Given the description of an element on the screen output the (x, y) to click on. 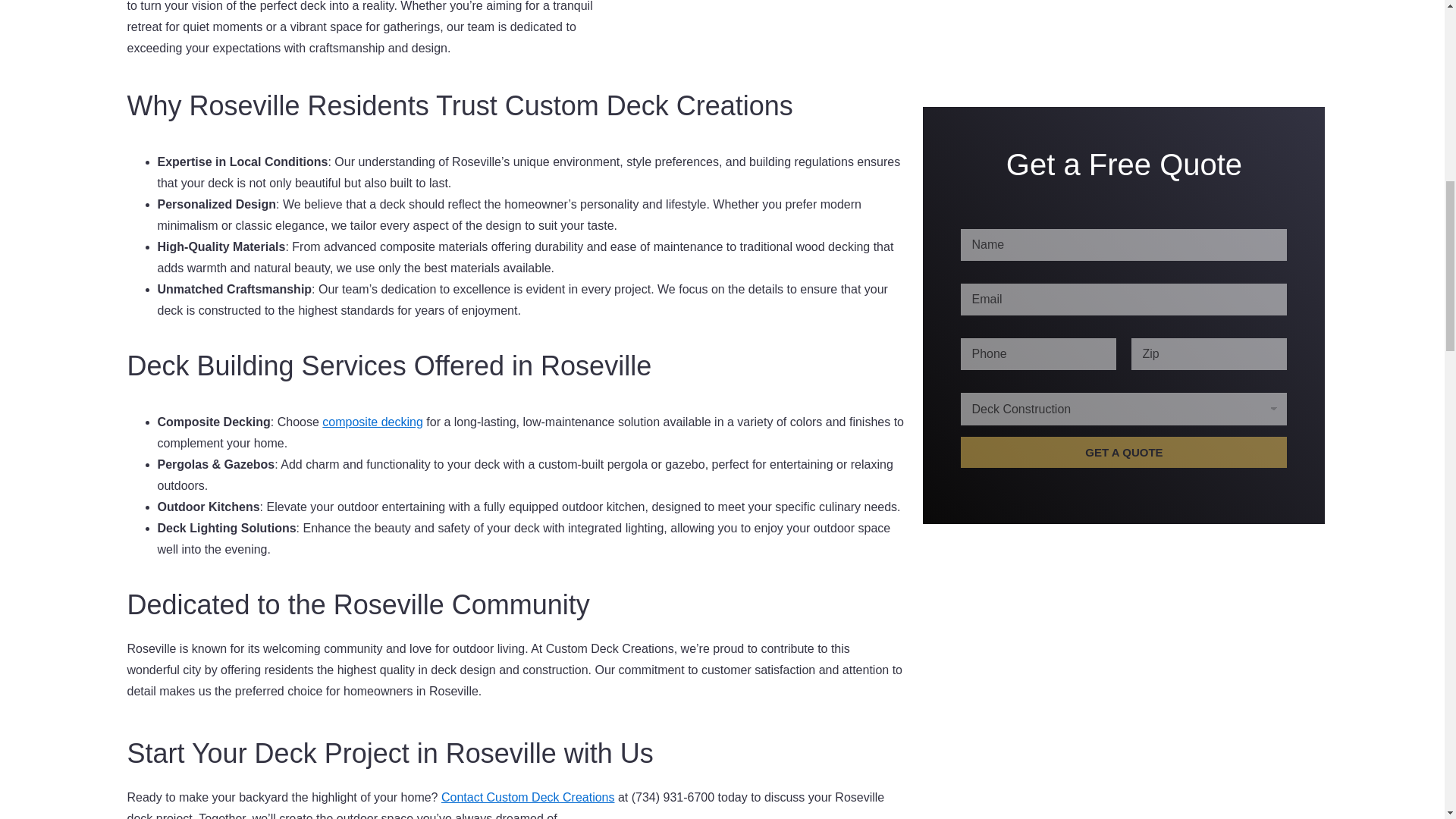
composite decking (372, 421)
Contact Custom Deck Creations (527, 797)
GET A QUOTE (1123, 179)
